Given the description of an element on the screen output the (x, y) to click on. 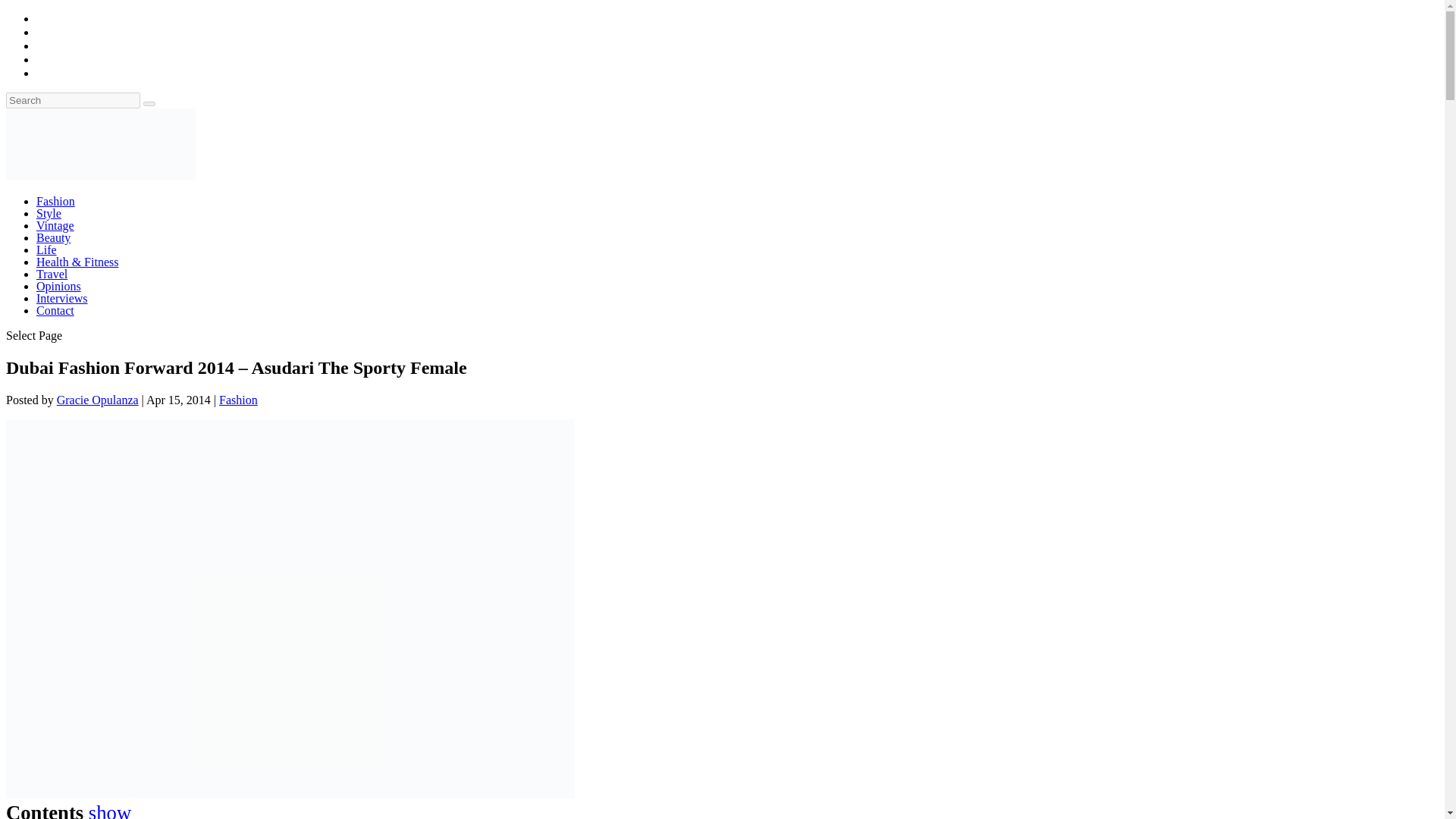
Posts by Gracie Opulanza (97, 399)
Vintage (55, 225)
Beauty (52, 237)
Life (46, 249)
Fashion (55, 201)
Style (48, 213)
Search for: (72, 100)
